Given the description of an element on the screen output the (x, y) to click on. 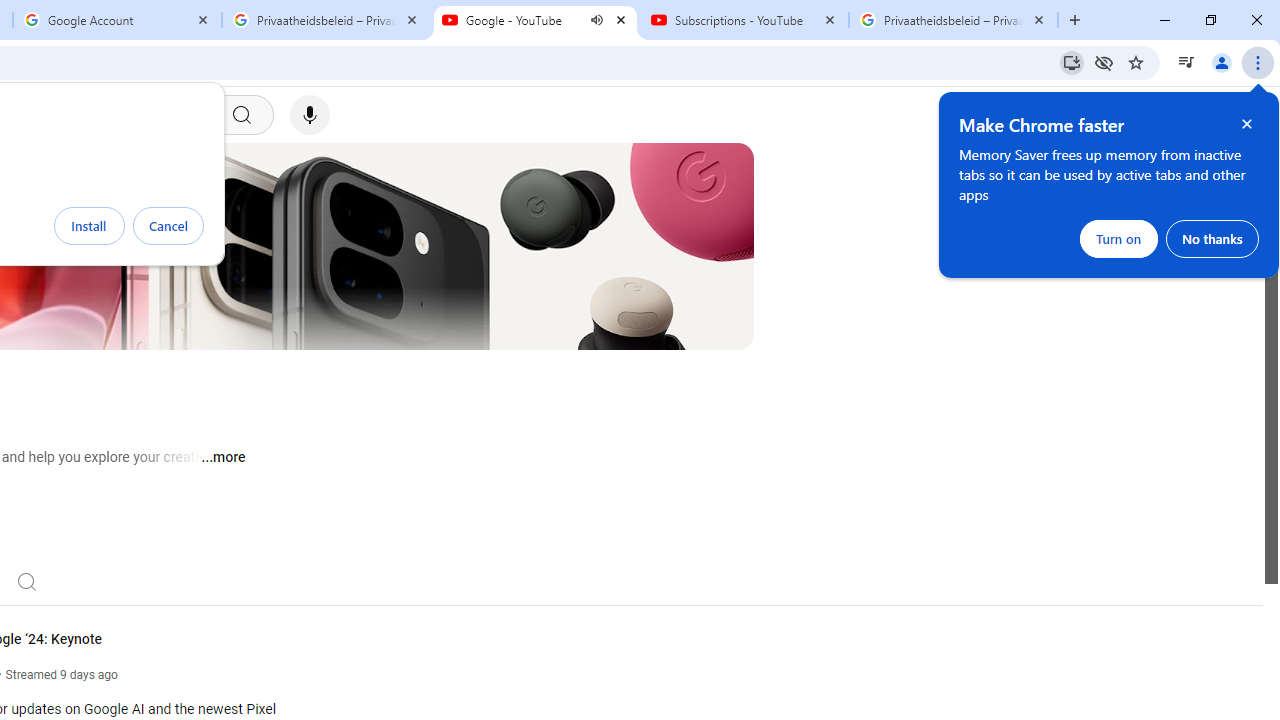
Close help bubble (1247, 124)
Cancel (168, 225)
No thanks (1212, 238)
Google Account (116, 20)
Google - YouTube - Audio playing (535, 20)
